Given the description of an element on the screen output the (x, y) to click on. 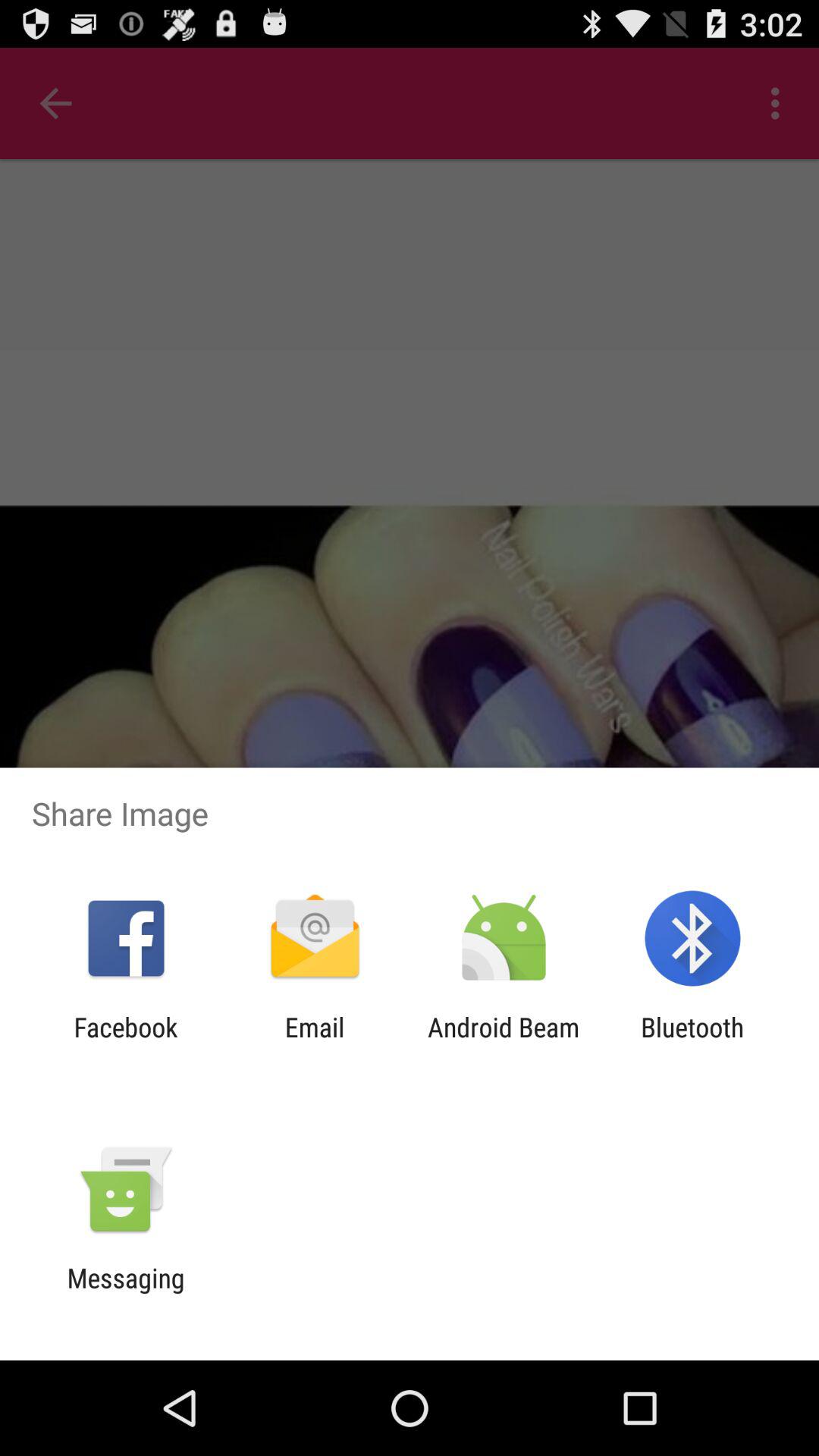
scroll to the facebook app (125, 1042)
